Given the description of an element on the screen output the (x, y) to click on. 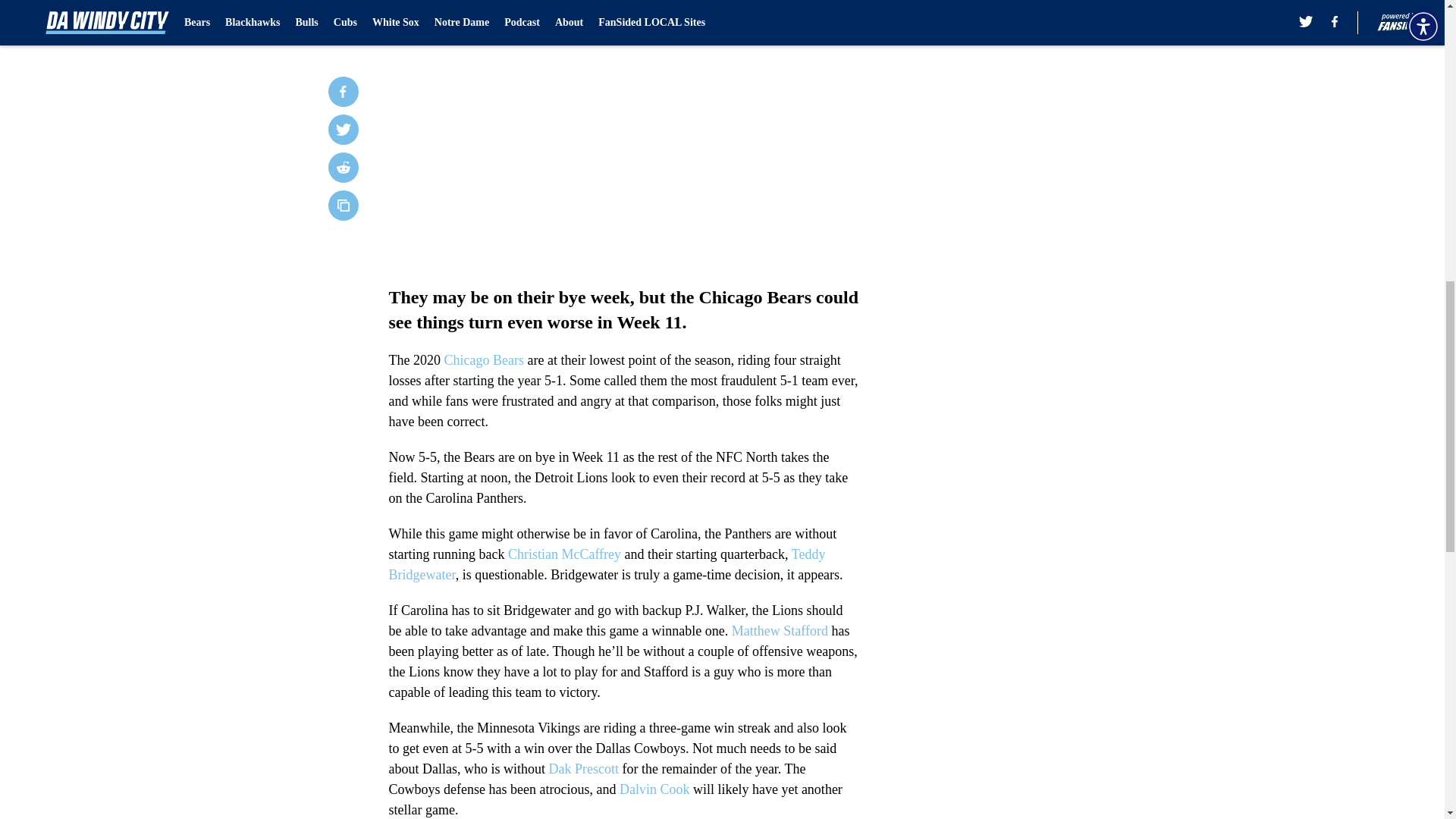
Chicago Bears (483, 359)
Teddy Bridgewater (606, 564)
Dalvin Cook (655, 789)
Christian McCaffrey (564, 554)
Matthew Stafford (780, 630)
Dak Prescott (582, 768)
